Given the description of an element on the screen output the (x, y) to click on. 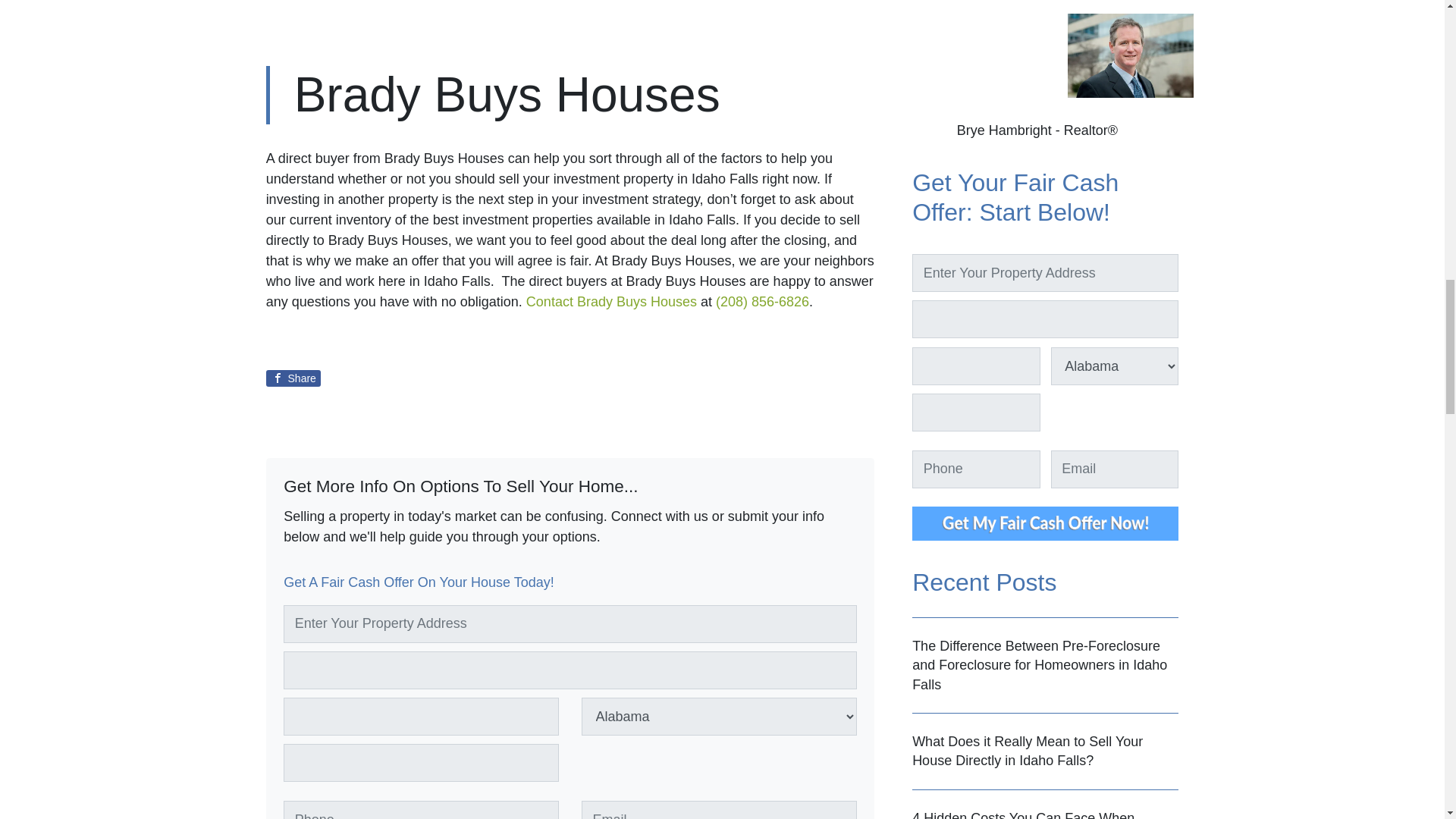
Contact Brady Buys Houses (611, 301)
Share (293, 378)
Share on Facebook (293, 378)
